Given the description of an element on the screen output the (x, y) to click on. 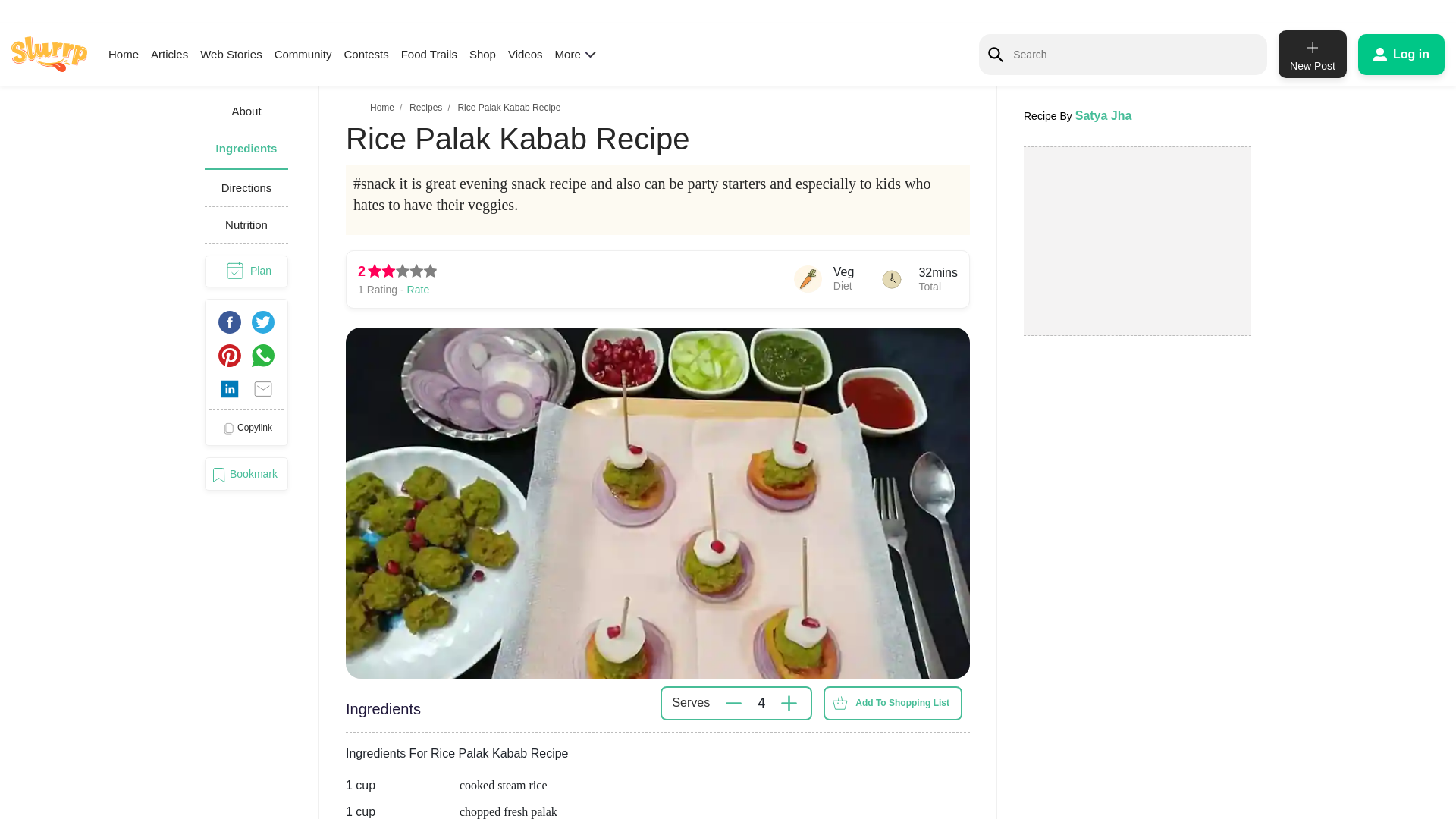
Food Trails (429, 53)
New Post (1312, 53)
user login (1401, 53)
Contests (365, 53)
Log in (1401, 53)
Shop (482, 53)
Recipes (425, 107)
Home (381, 107)
copy link (246, 427)
Web Stories (231, 53)
Home (122, 53)
Videos (525, 53)
Articles (169, 53)
Community (303, 53)
